Given the description of an element on the screen output the (x, y) to click on. 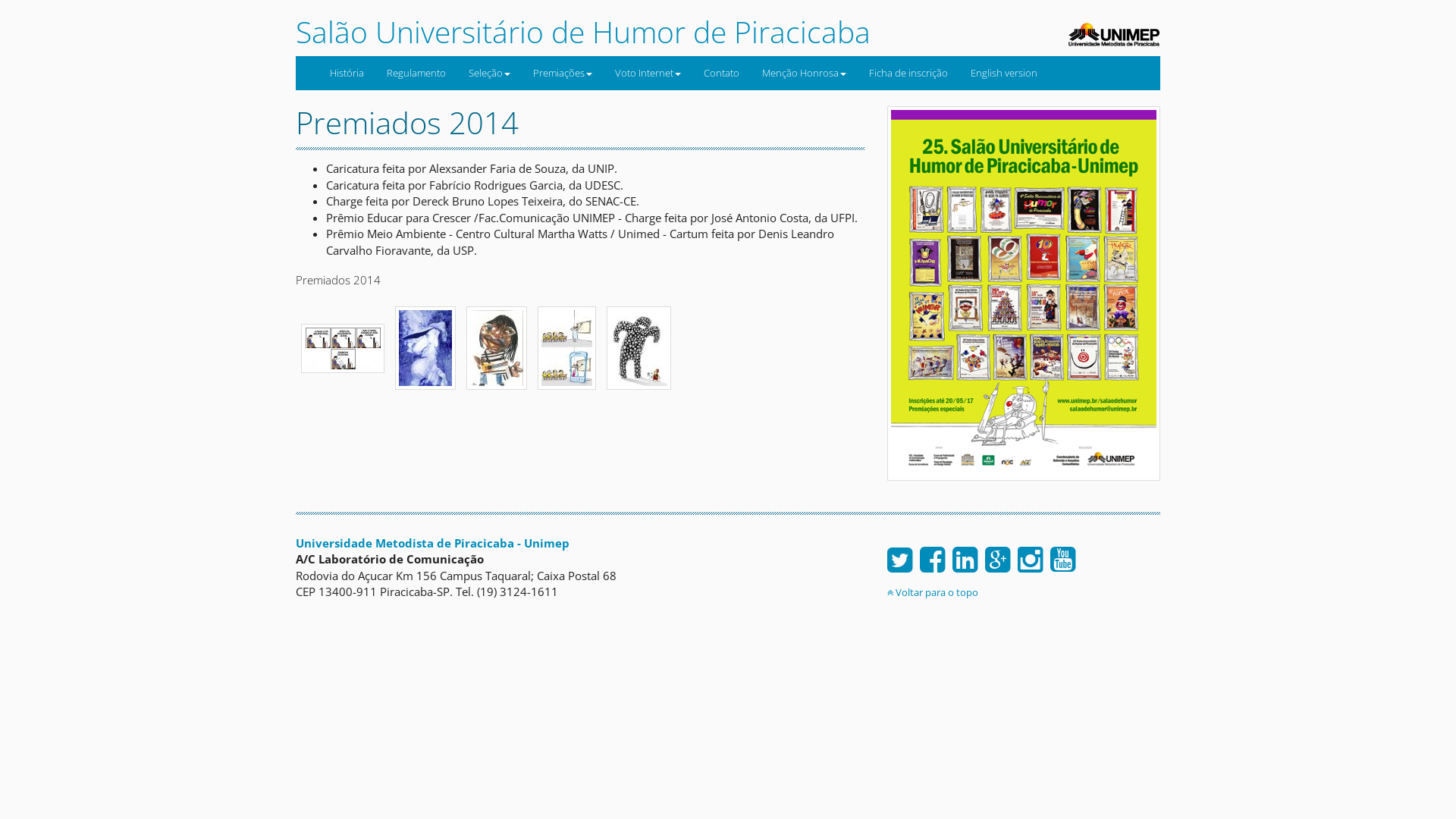
English version Element type: text (1003, 73)
Premiados 2014 Element type: hover (638, 346)
Premiados 2014 Element type: hover (496, 346)
Voto Internet Element type: text (647, 73)
Voltar para o topo Element type: text (932, 592)
Universidade Metodista de Piracicaba - Unimep Element type: text (432, 542)
Premiados 2014 Element type: hover (566, 346)
Premiados 2014 Element type: hover (425, 346)
Regulamento Element type: text (416, 73)
Contato Element type: text (721, 73)
Premiados 2014 Element type: hover (342, 346)
